Given the description of an element on the screen output the (x, y) to click on. 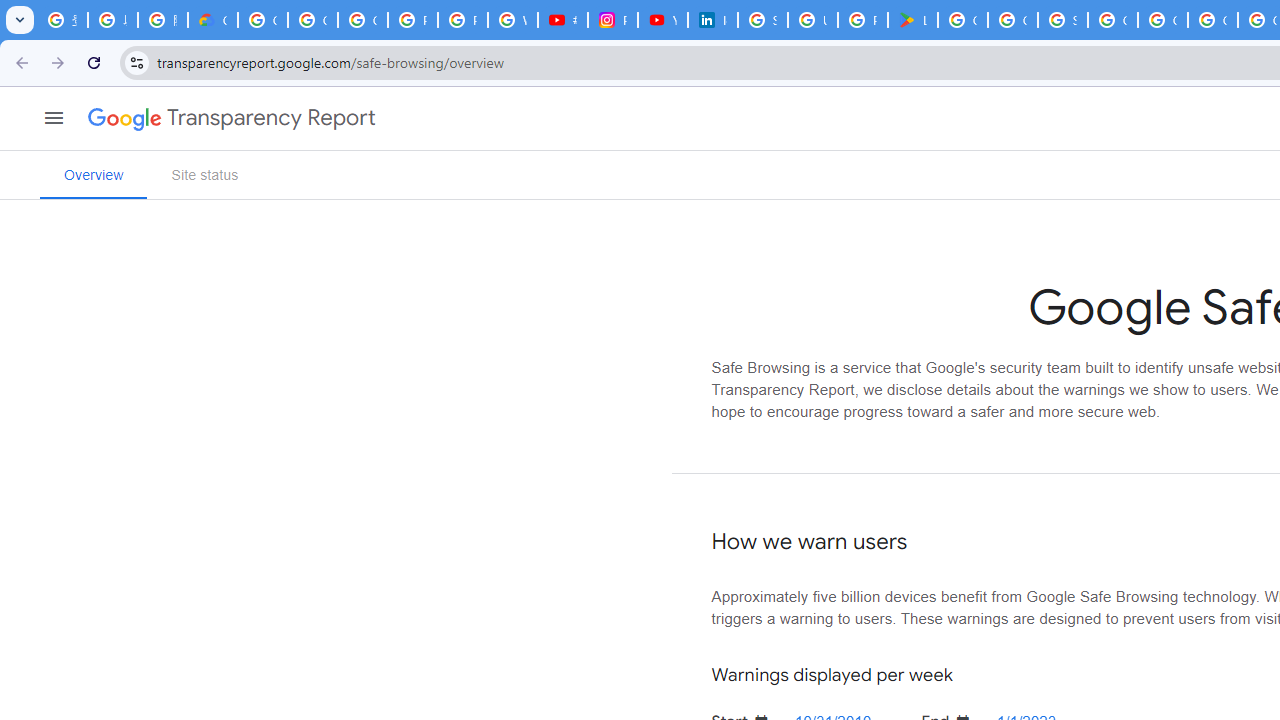
Last Shelter: Survival - Apps on Google Play (913, 20)
Transparency Report (271, 118)
Identity verification via Persona | LinkedIn Help (712, 20)
Sign in - Google Accounts (763, 20)
Sign in - Google Accounts (1062, 20)
#nbabasketballhighlights - YouTube (562, 20)
